Given the description of an element on the screen output the (x, y) to click on. 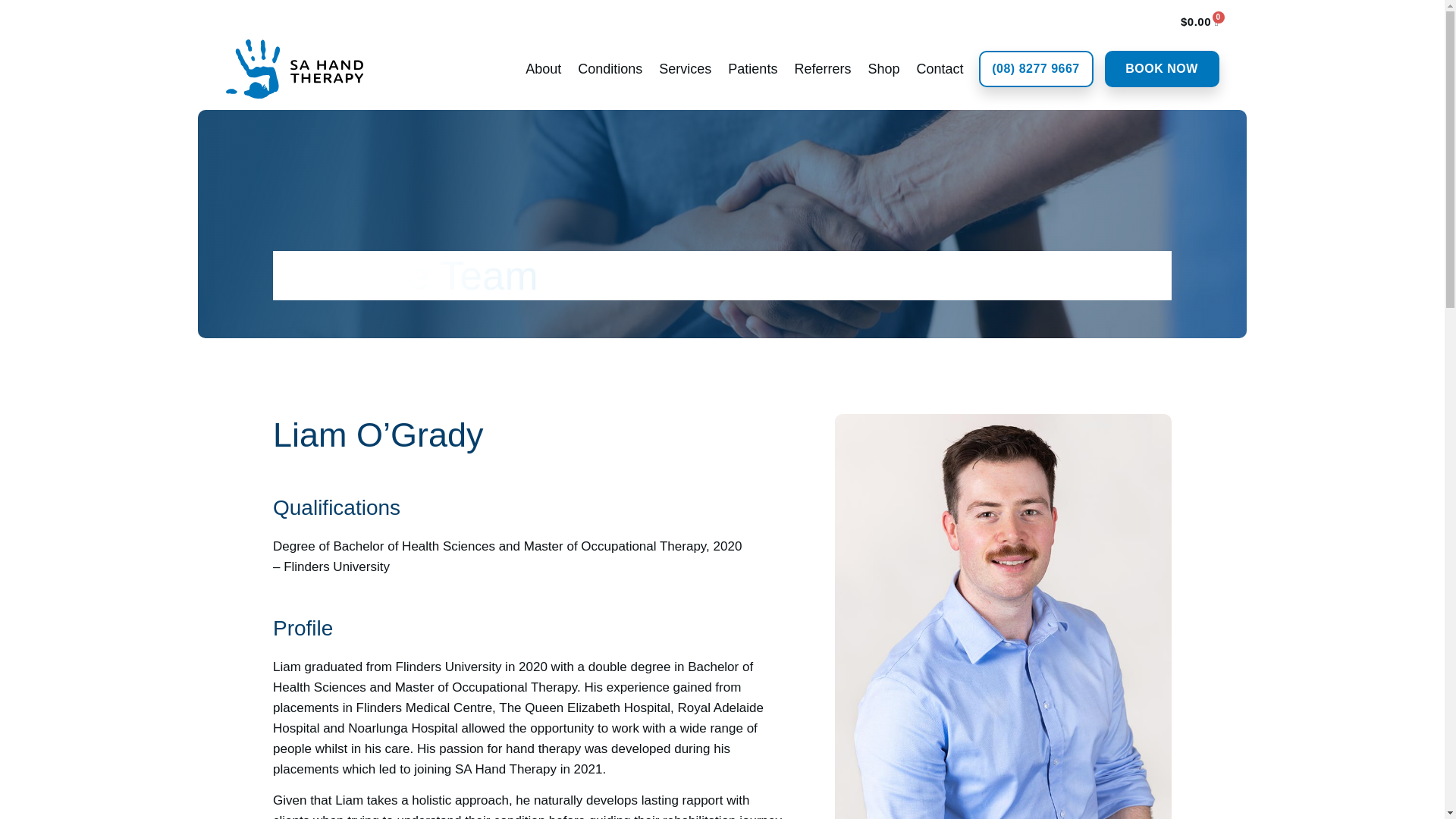
Services (685, 68)
Patients (752, 68)
About (542, 68)
Conditions (610, 68)
Referrers (821, 68)
